Given the description of an element on the screen output the (x, y) to click on. 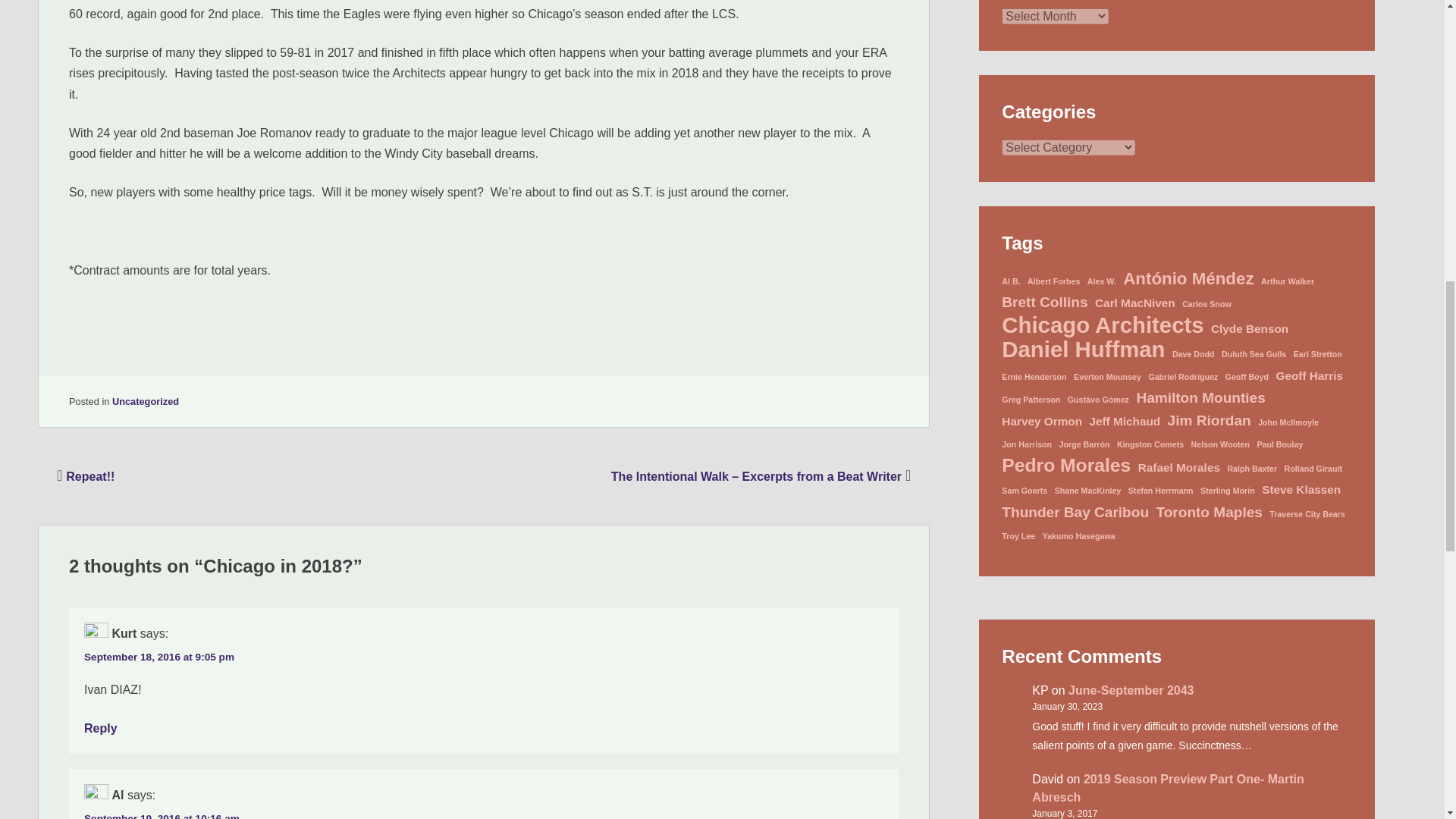
Arthur Walker (1287, 281)
September 18, 2016 at 9:05 pm (159, 656)
Reply (100, 727)
Albert Forbes (1053, 281)
Brett Collins (1044, 301)
Repeat!! (83, 476)
Uncategorized (145, 401)
Al B. (1010, 281)
Alex W. (1101, 281)
September 19, 2016 at 10:16 am (162, 816)
